Given the description of an element on the screen output the (x, y) to click on. 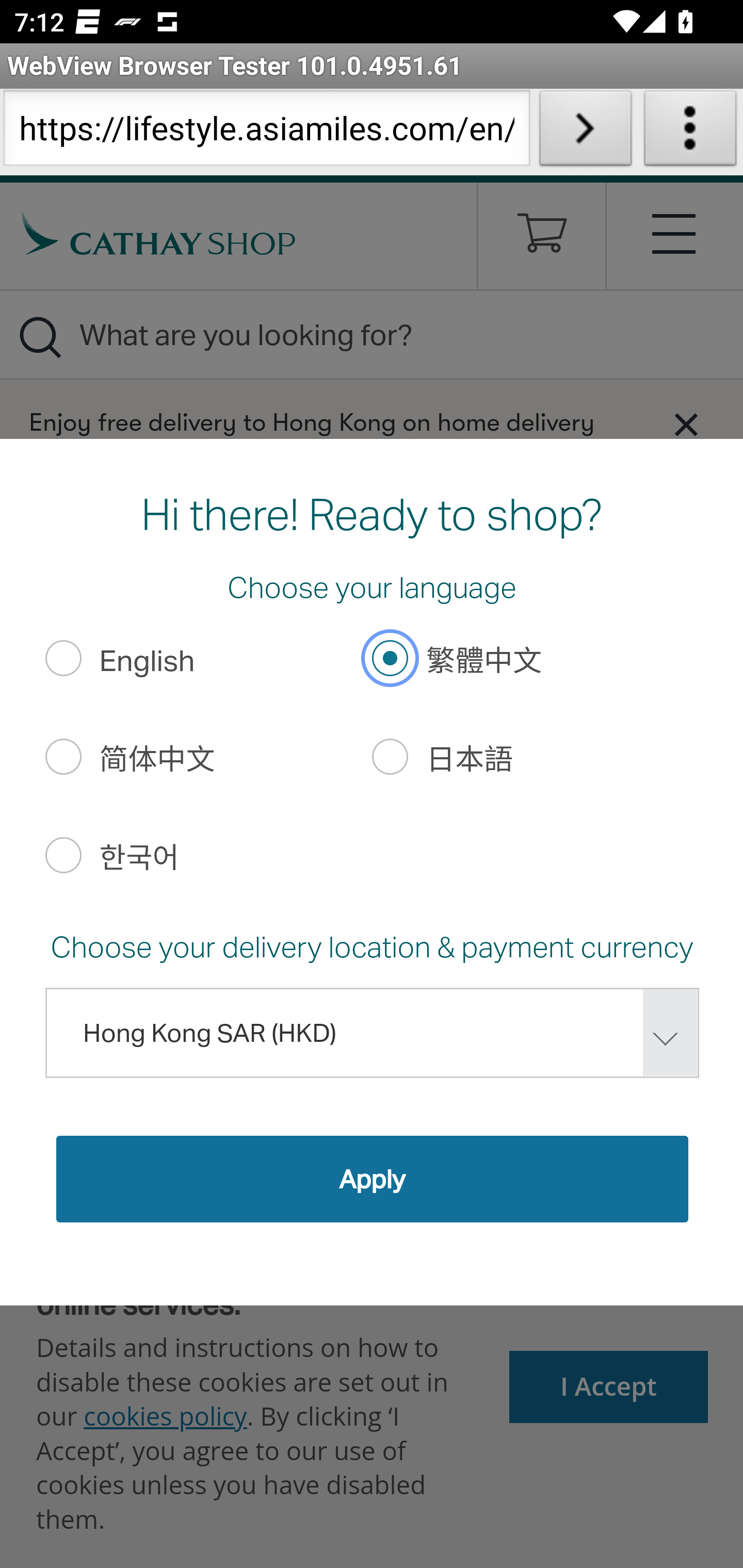
Load URL (585, 132)
About WebView (690, 132)
Mini cart (542, 240)
Menu (675, 232)
en Cathay-Shop-English-Horizontal-Black-03 (158, 232)
What are you looking for? (371, 334)
English (63, 658)
繁體中文 (390, 658)
简体中文 (63, 756)
日本語 (390, 756)
한국어 (63, 854)
Hong Kong SAR (HKD) (371, 1032)
apply (371, 1178)
I Accept (608, 1386)
cookies policy (165, 1415)
